Given the description of an element on the screen output the (x, y) to click on. 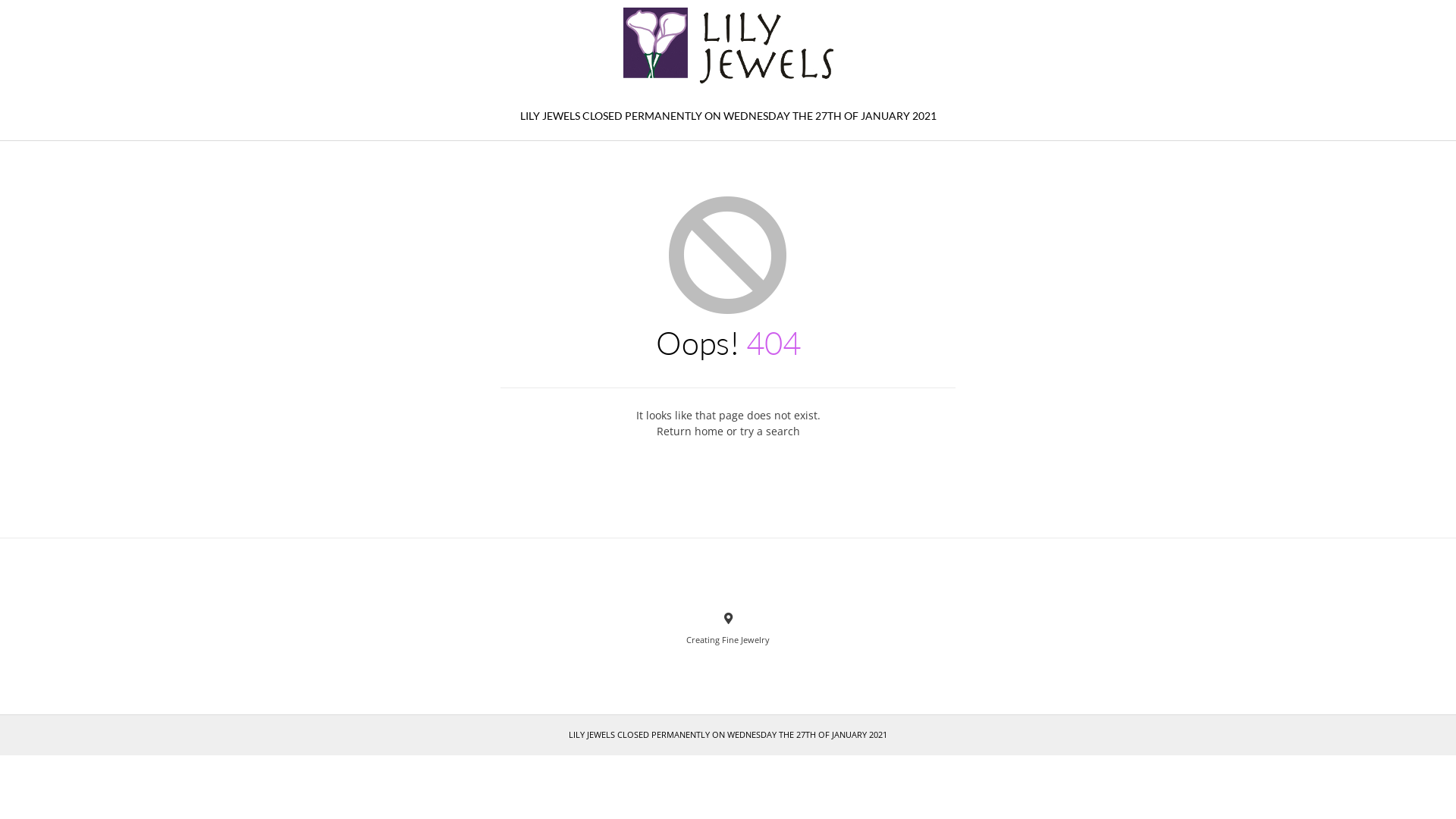
Lily Jewels Paddington Element type: hover (728, 45)
